Given the description of an element on the screen output the (x, y) to click on. 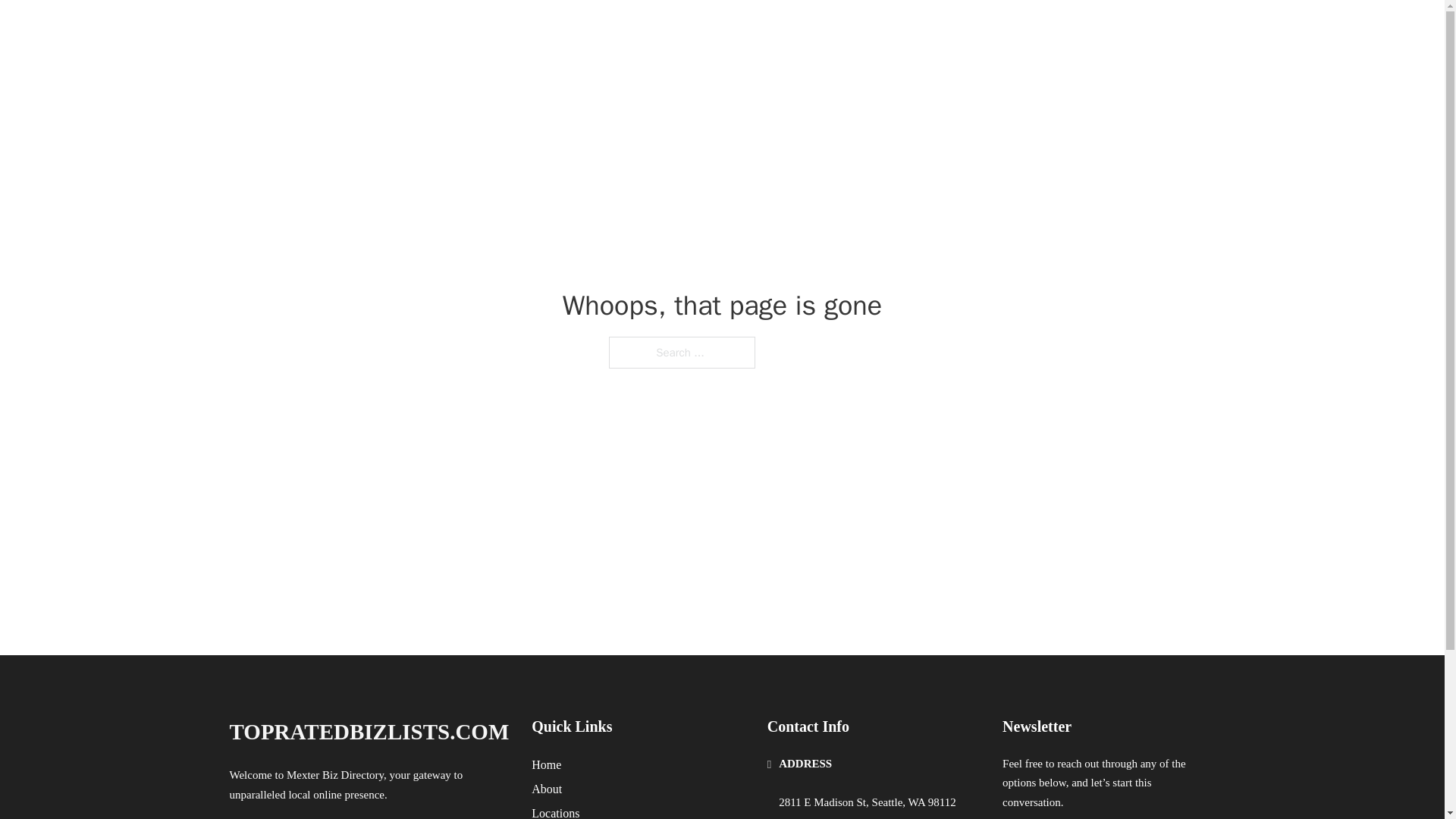
Home (545, 764)
About (546, 788)
LOCATIONS (1098, 31)
TOPRATEDBIZLISTS.COM (382, 31)
TOPRATEDBIZLISTS.COM (368, 732)
HOME (1025, 31)
Locations (555, 811)
